Given the description of an element on the screen output the (x, y) to click on. 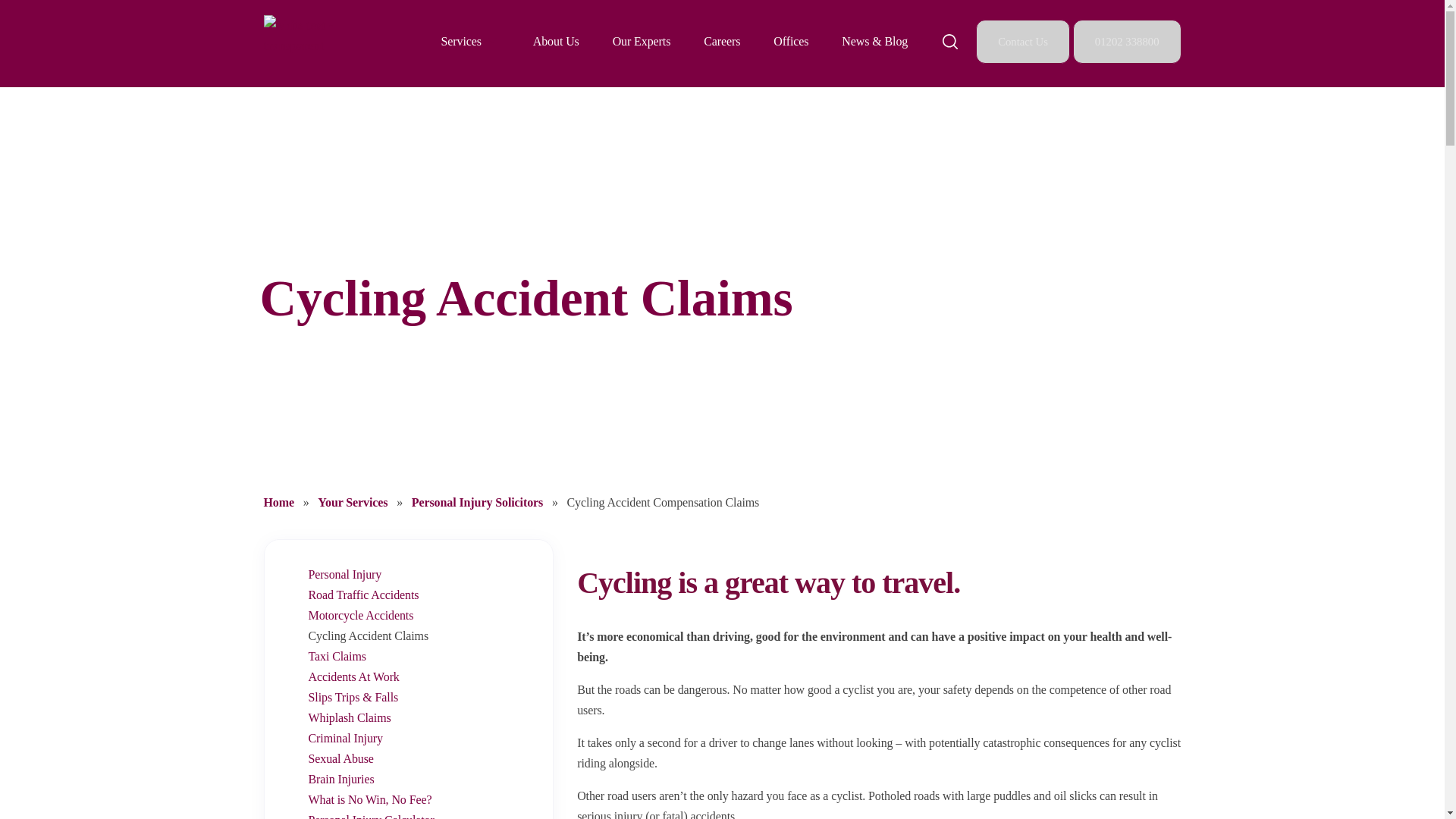
Contact Us (1024, 41)
Home (280, 502)
Your Services (353, 502)
Personal Injury (344, 574)
Services (461, 41)
01202 338800 (1126, 41)
Personal Injury Solicitors (479, 502)
white text - transparent (307, 43)
Careers (721, 41)
Contact Us (1022, 41)
